Given the description of an element on the screen output the (x, y) to click on. 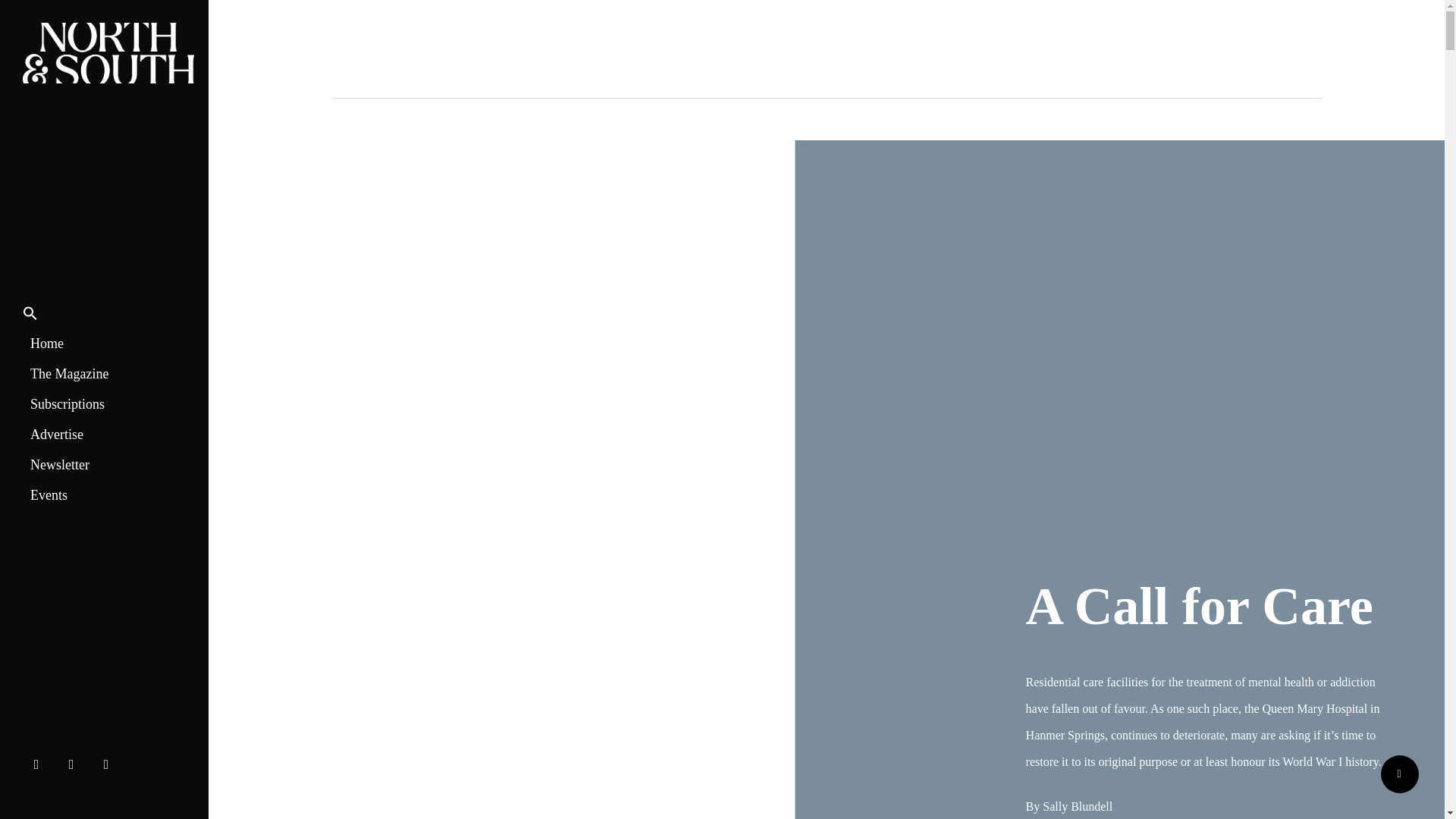
Newsletter (60, 464)
twitter (40, 762)
instagram (110, 762)
Advertise (56, 434)
Subscriptions (67, 404)
The Magazine (69, 373)
facebook (75, 762)
Home (47, 343)
Events (49, 494)
